Given the description of an element on the screen output the (x, y) to click on. 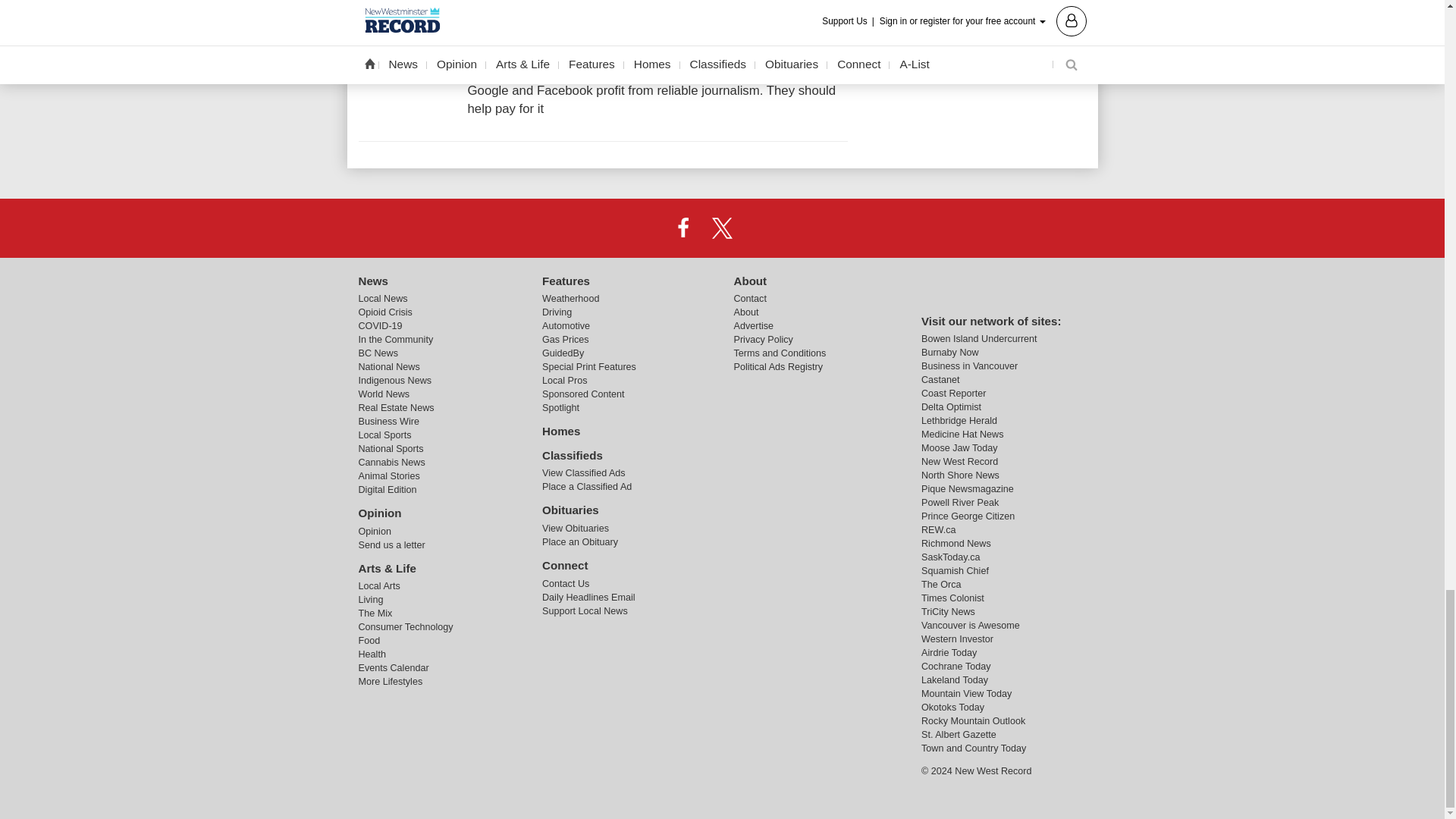
X (721, 226)
Instagram (760, 226)
Facebook (683, 226)
